Given the description of an element on the screen output the (x, y) to click on. 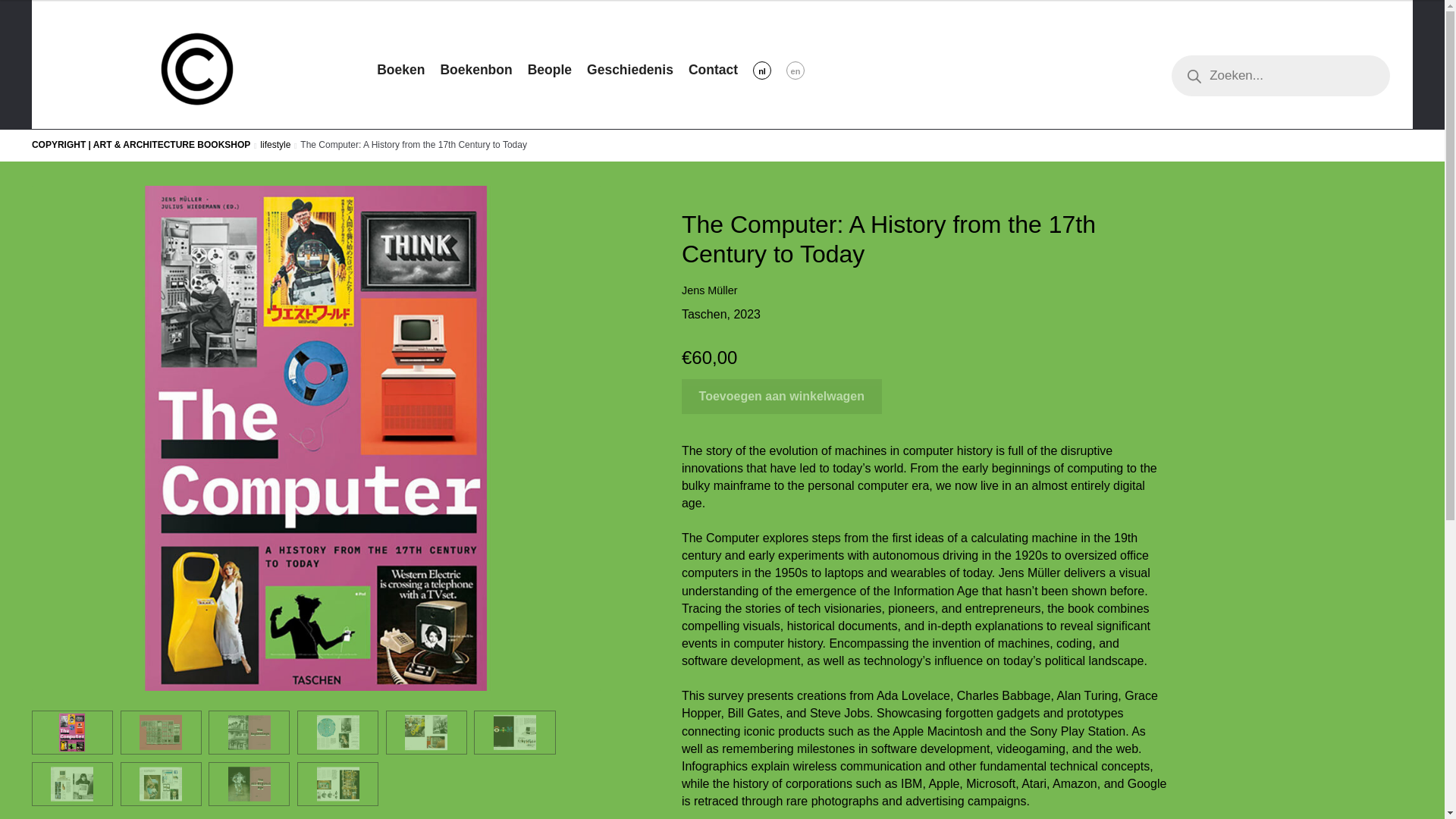
Beople (556, 69)
en (802, 69)
Toevoegen aan winkelwagen (781, 396)
Producten zoeken (1287, 75)
nl (769, 69)
EN (802, 69)
Boekenbon (483, 69)
lifestyle (274, 144)
Boeken (408, 69)
NL (769, 69)
Contact (720, 69)
Geschiedenis (637, 69)
